Given the description of an element on the screen output the (x, y) to click on. 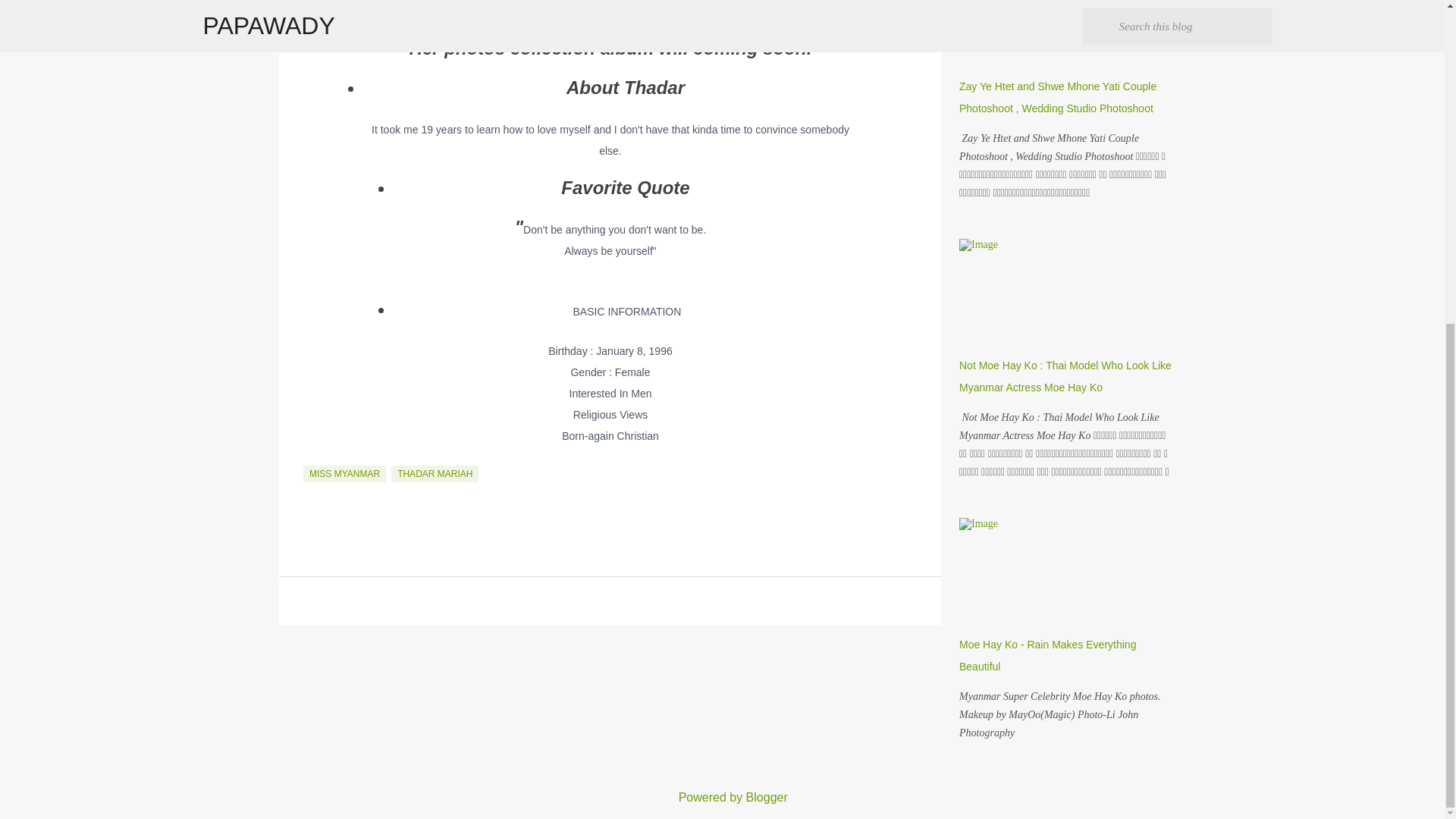
Moe Hay Ko - Rain Makes Everything Beautiful (1047, 655)
Powered by Blogger (721, 797)
THADAR MARIAH (435, 474)
MISS MYANMAR (343, 474)
